Given the description of an element on the screen output the (x, y) to click on. 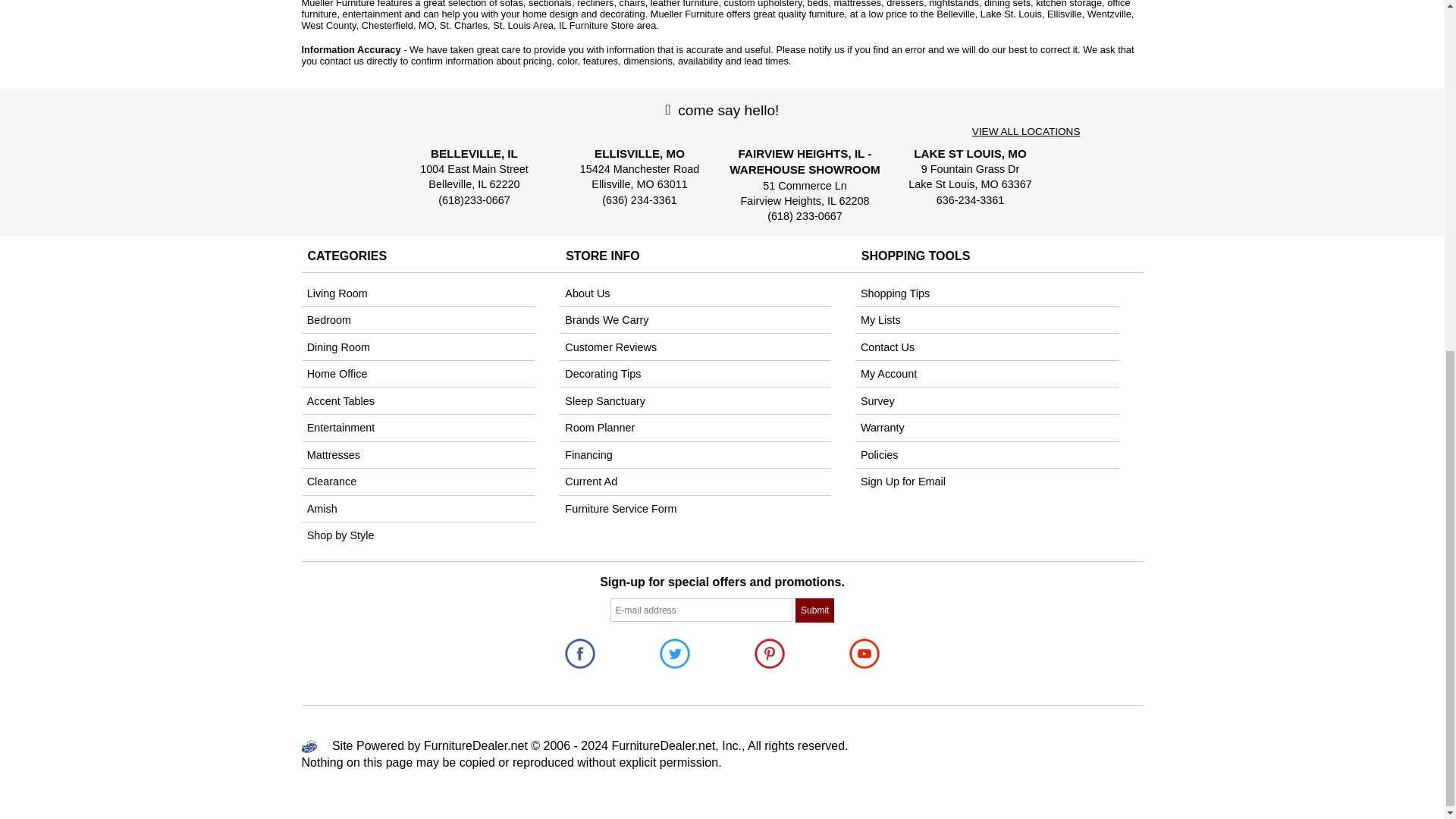
Submit (814, 609)
